Given the description of an element on the screen output the (x, y) to click on. 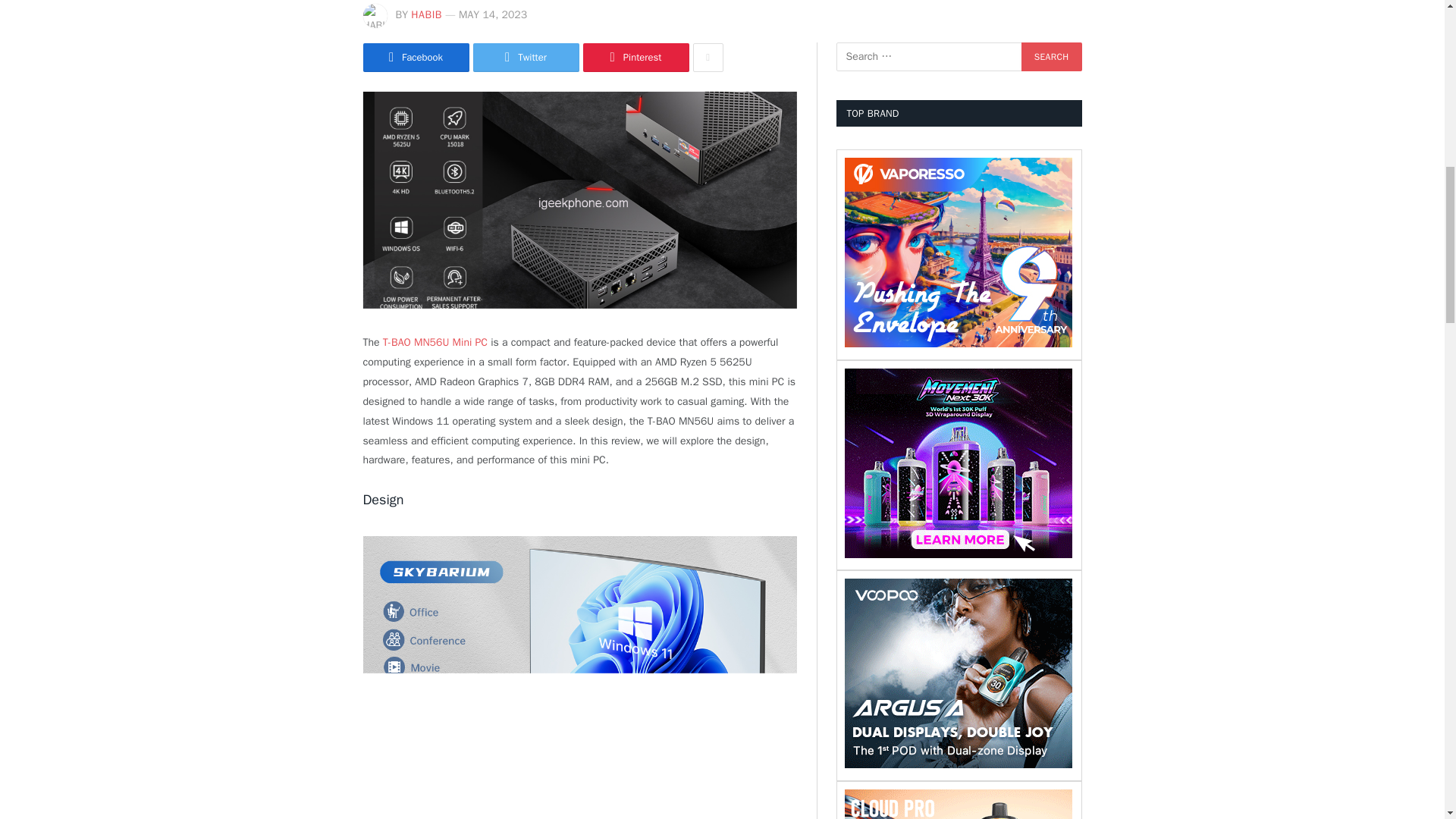
Show More Social Sharing (708, 57)
Posts by Habib (426, 14)
Share on Pinterest (635, 57)
Share on Facebook (415, 57)
Search (1051, 56)
Share on Twitter (526, 57)
Search (1051, 56)
